Given the description of an element on the screen output the (x, y) to click on. 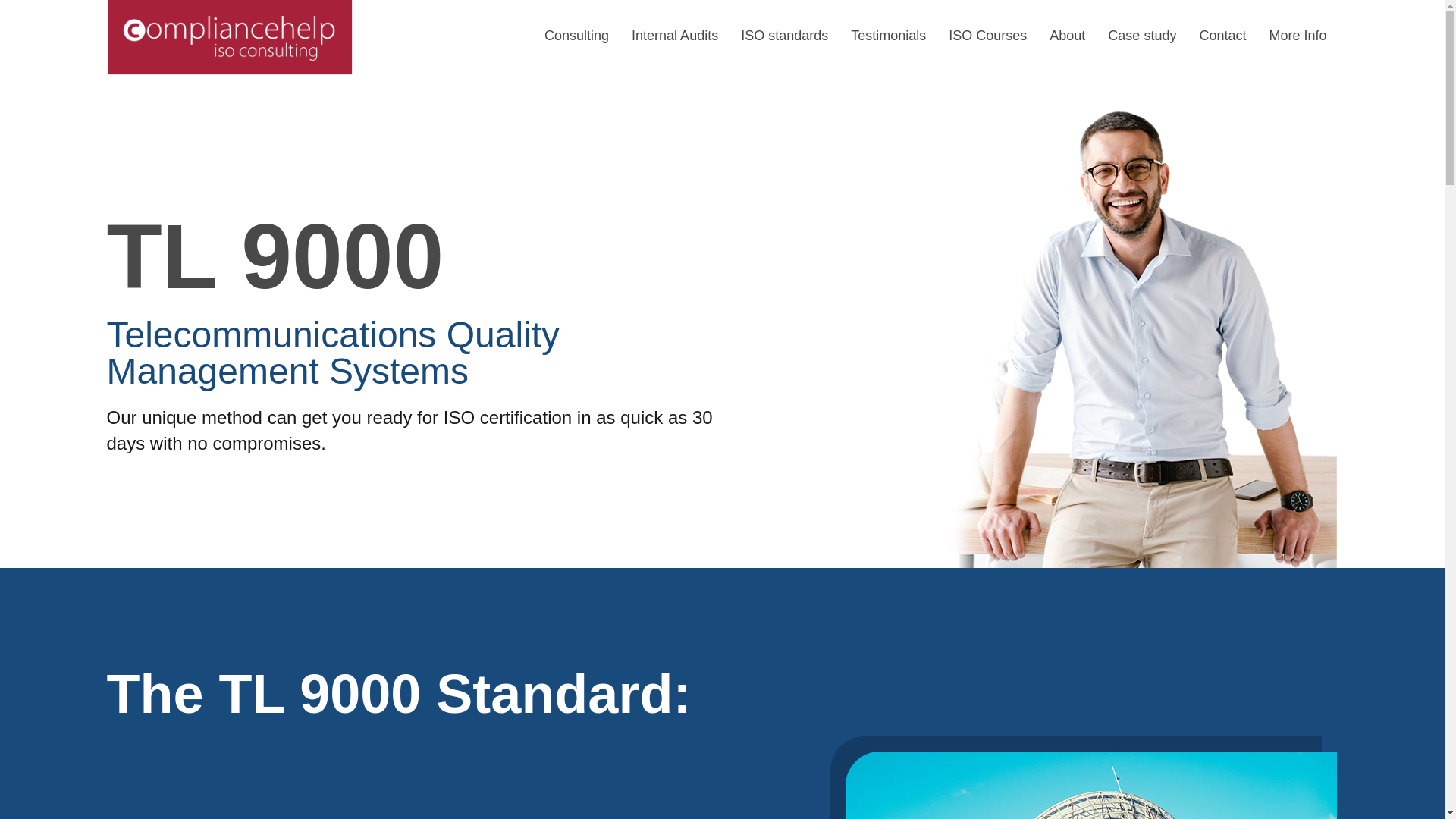
ISO Courses (987, 36)
ISO standards (784, 36)
Case study (1142, 36)
Consulting (576, 36)
Internal Audits (674, 36)
Testimonials (888, 36)
